Given the description of an element on the screen output the (x, y) to click on. 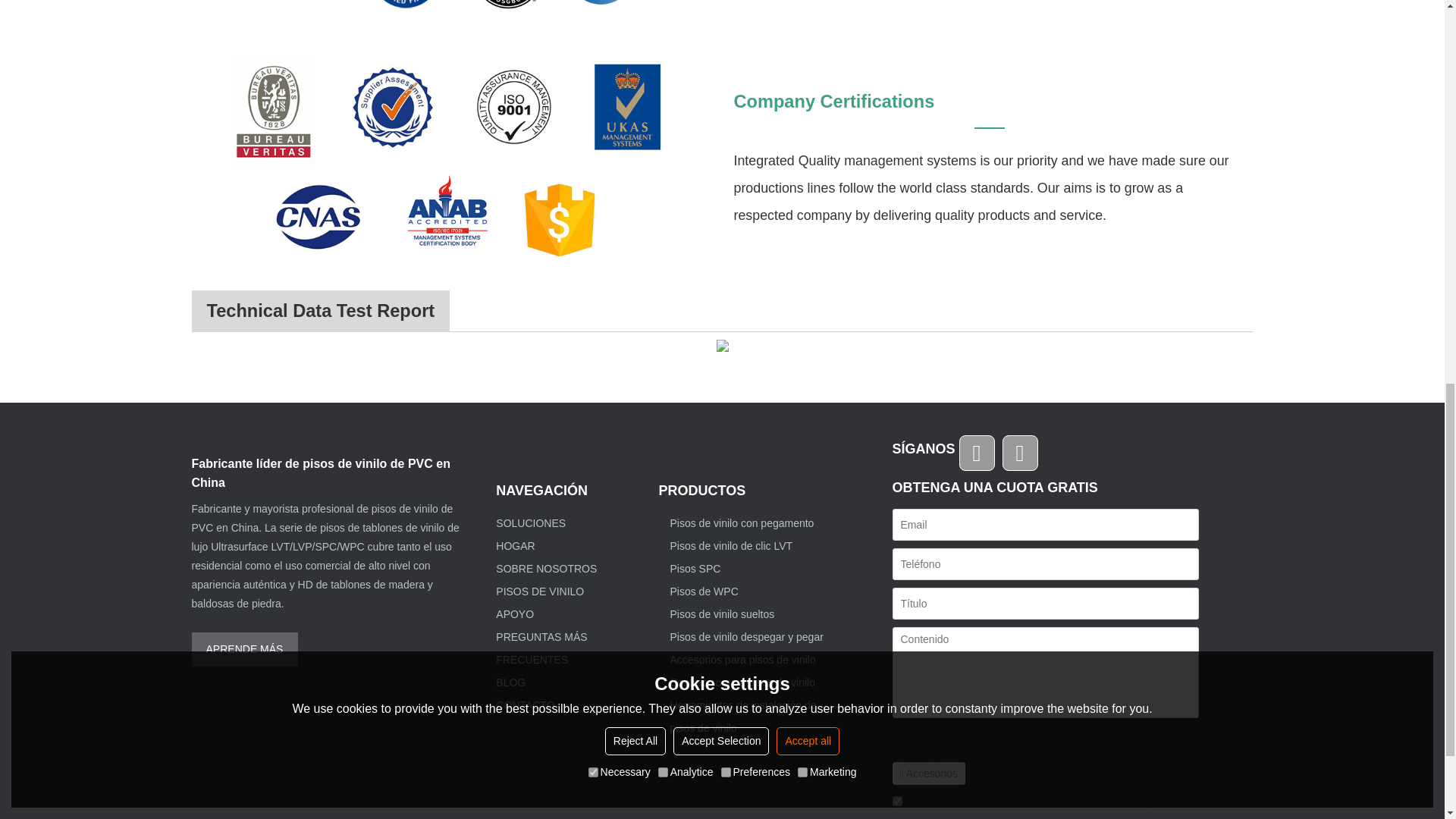
on (896, 800)
